Given the description of an element on the screen output the (x, y) to click on. 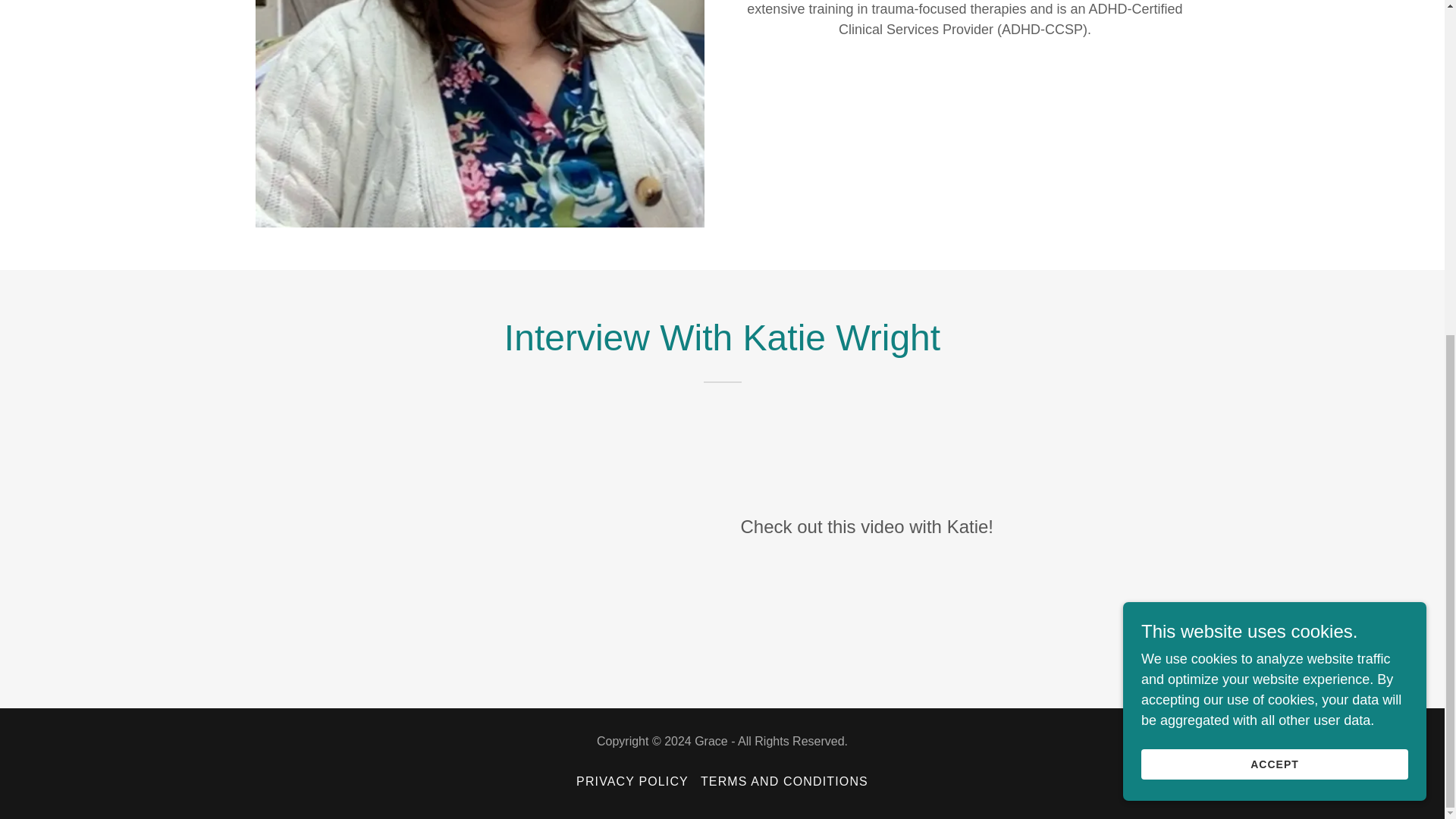
PRIVACY POLICY (632, 781)
ACCEPT (1274, 203)
TERMS AND CONDITIONS (784, 781)
